Given the description of an element on the screen output the (x, y) to click on. 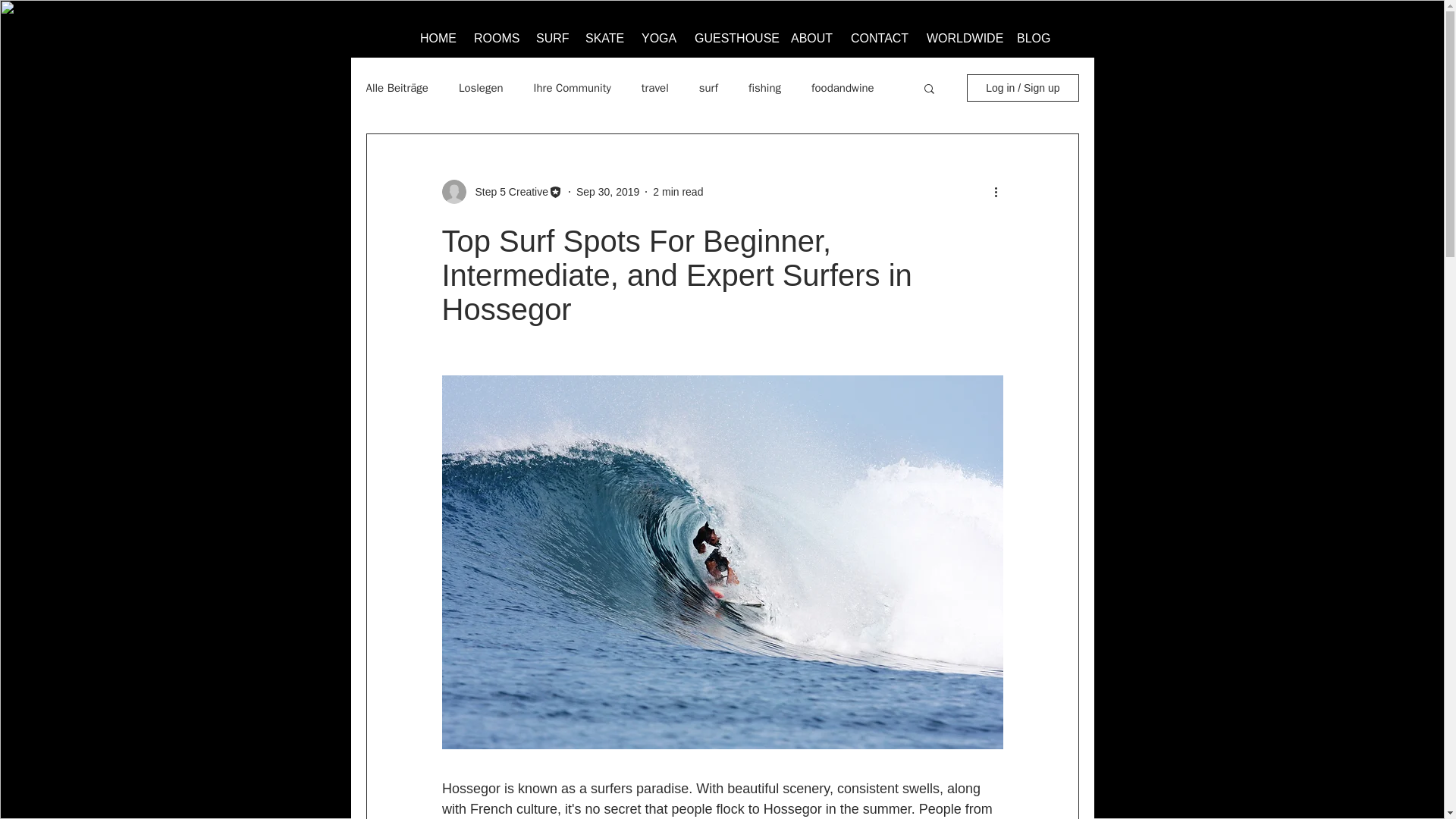
CONTACT (879, 31)
surf (707, 87)
SURF (550, 31)
Sep 30, 2019 (607, 191)
GUESTHOUSE (732, 31)
YOGA (657, 31)
SKATE (603, 31)
WORLDWIDE (962, 31)
fishing (764, 87)
2 min read (677, 191)
Loslegen (480, 87)
foodandwine (842, 87)
Step 5 Creative (506, 191)
BLOG (1032, 31)
ROOMS (494, 31)
